Given the description of an element on the screen output the (x, y) to click on. 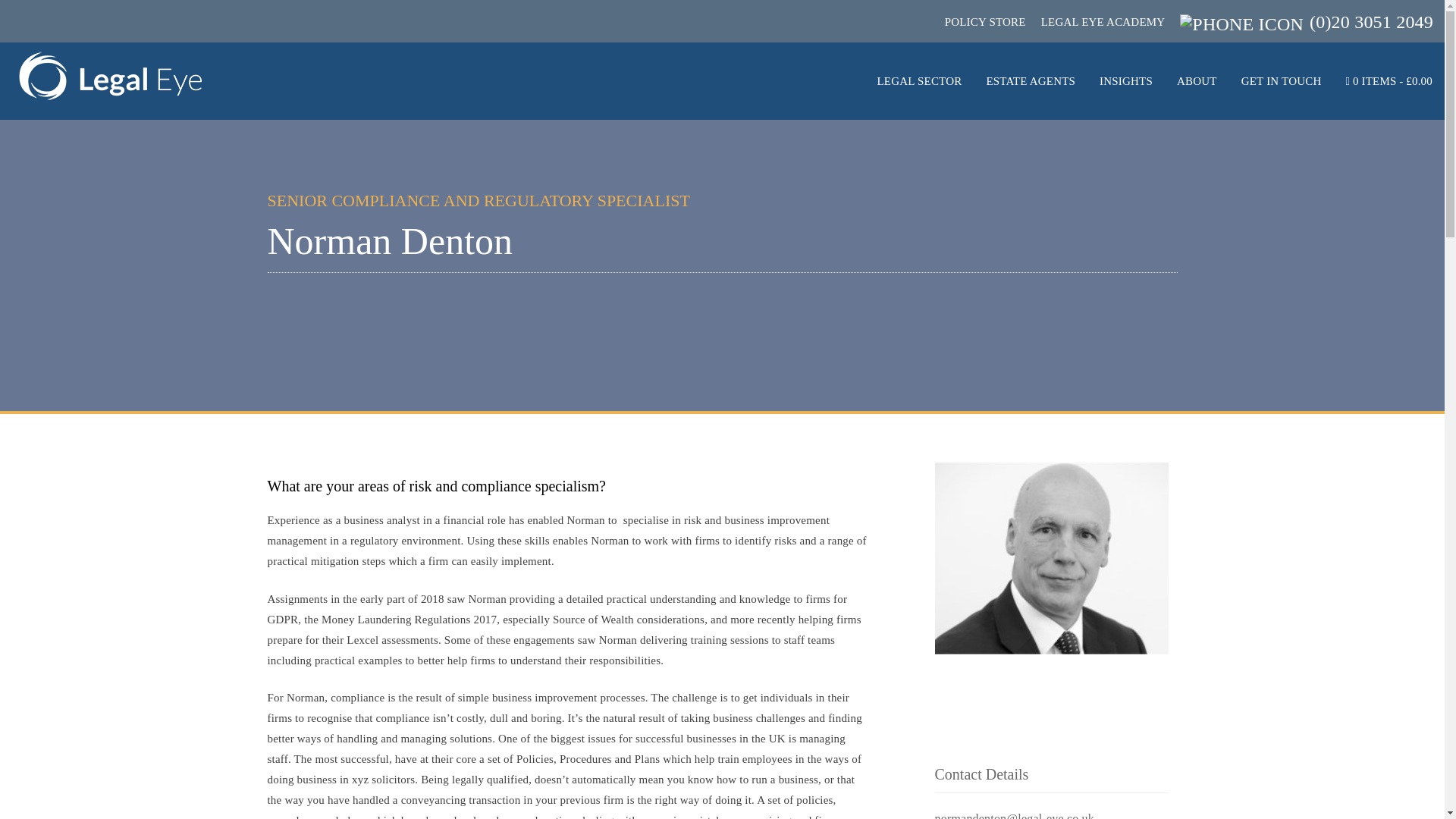
Start shopping (1388, 80)
Legal (110, 80)
ESTATE AGENTS (1030, 81)
LEGAL SECTOR (918, 81)
POLICY STORE (985, 21)
Legal (98, 59)
LEGAL EYE ACADEMY (1103, 21)
